Given the description of an element on the screen output the (x, y) to click on. 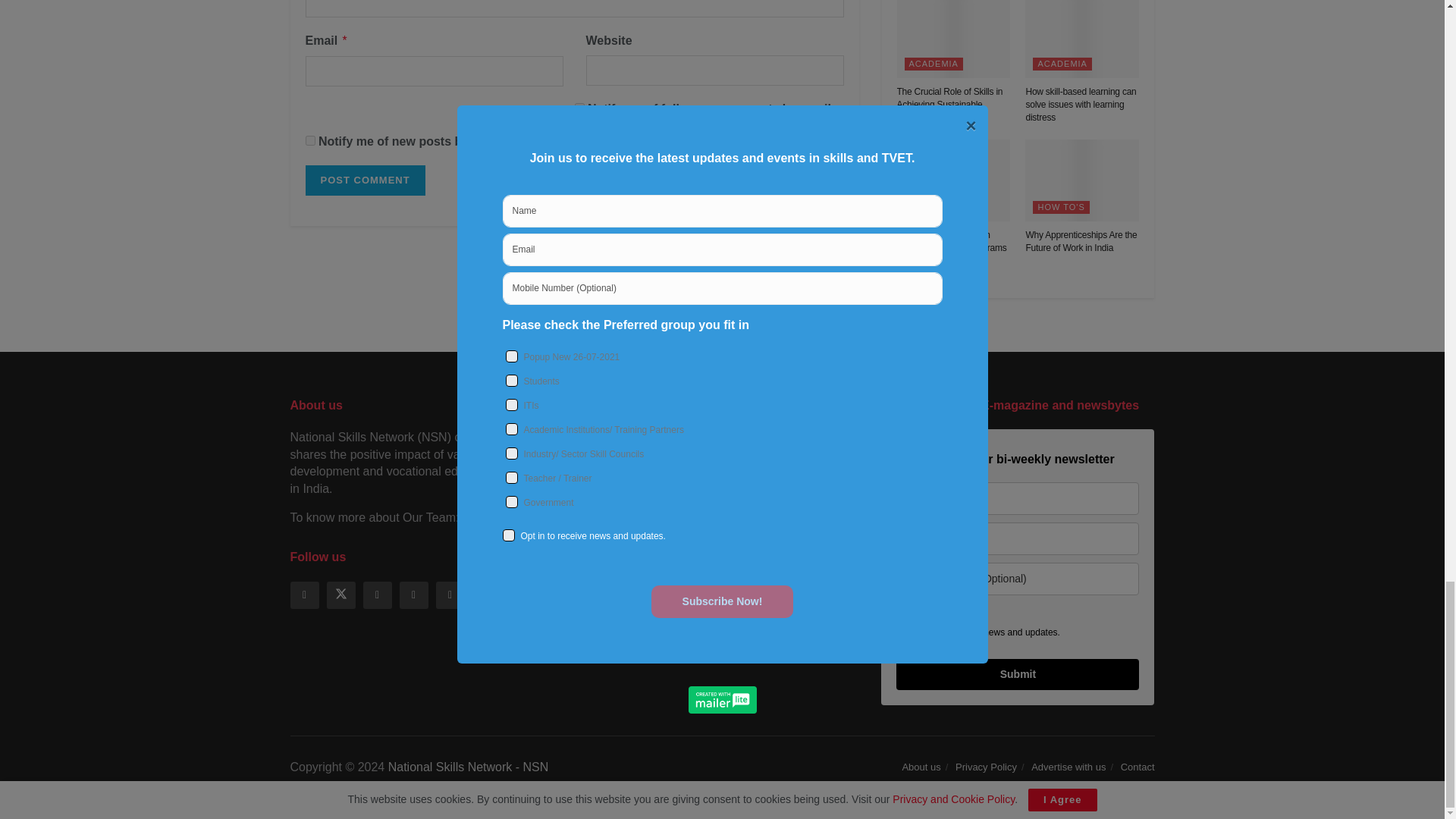
National Skills Network (468, 766)
subscribe (580, 108)
Post Comment (364, 180)
subscribe (309, 140)
